Given the description of an element on the screen output the (x, y) to click on. 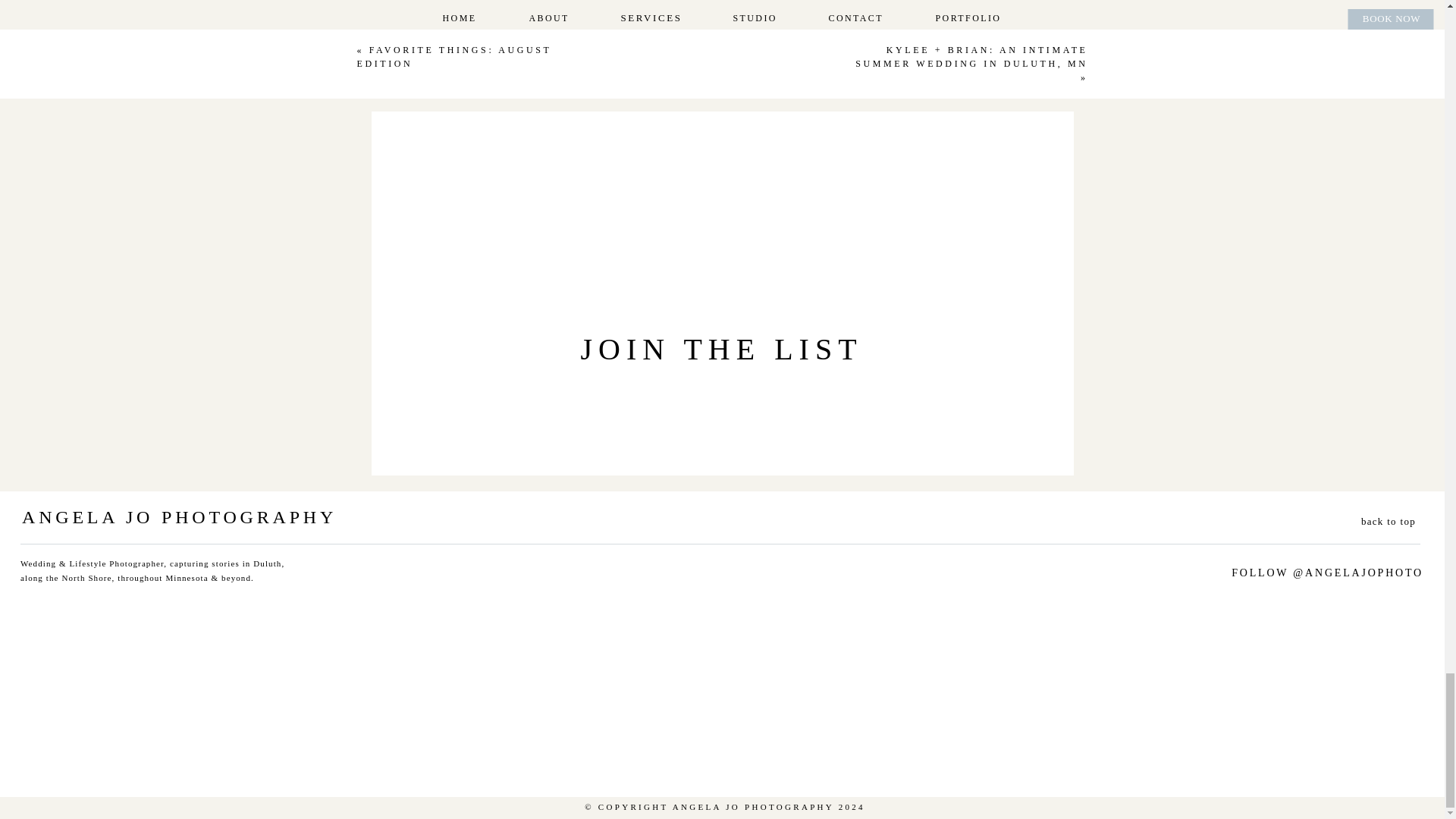
ANGELA JO PHOTOGRAPHY (182, 514)
back to top (1374, 520)
FAVORITE THINGS: AUGUST EDITION (453, 56)
